Given the description of an element on the screen output the (x, y) to click on. 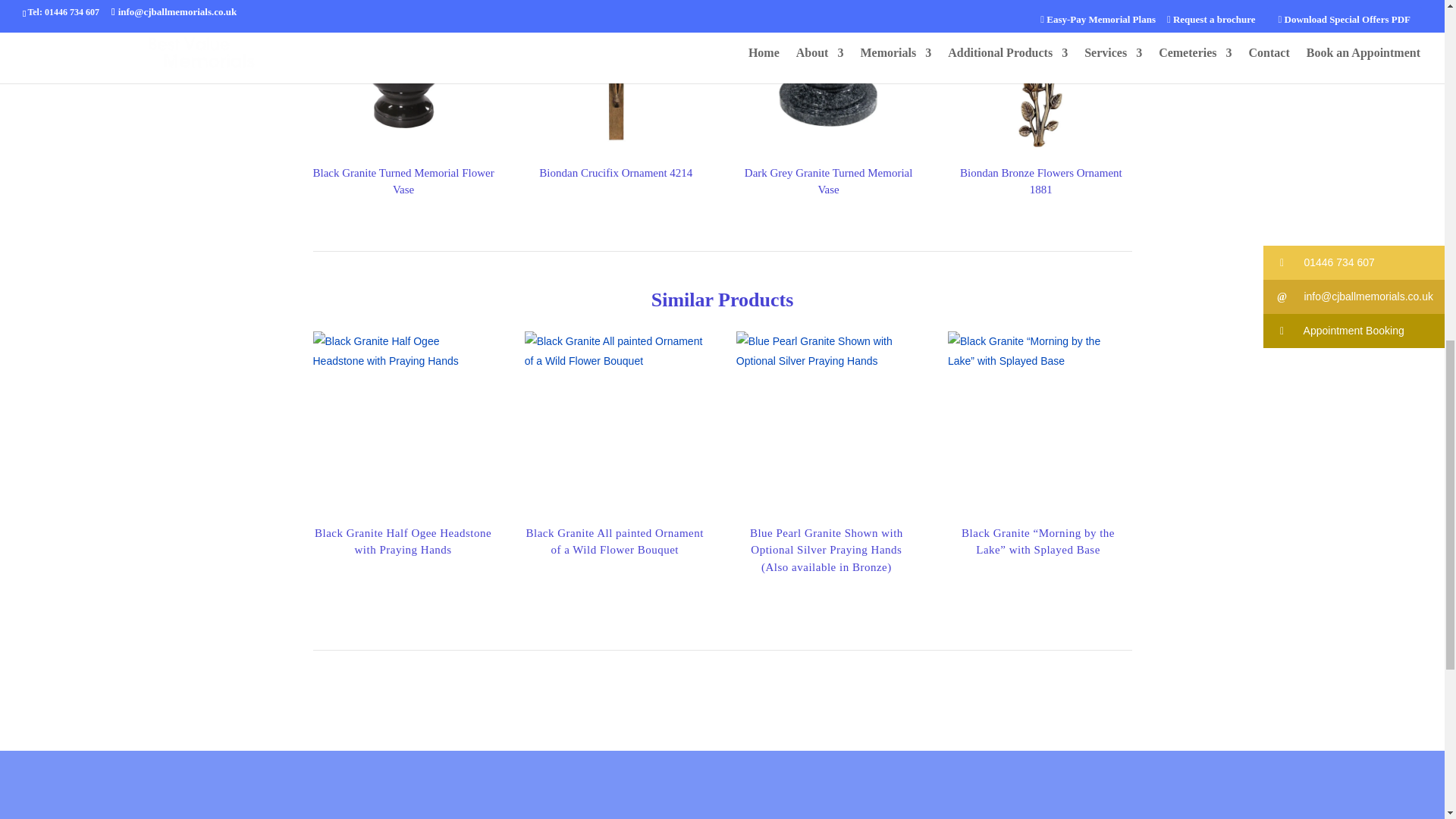
Biondan Bronze Flowers Ornament 1881 (1040, 79)
Biondan Crucifix Ornament 4214 (615, 79)
Black Granite Turned Memorial Flower Vase (403, 79)
Blue Pearl Granite Shown with Optional Silver Praying Hands (826, 421)
Dark Grey Granite Turned Memorial Vase (828, 79)
Black Granite All painted Ornament of a Wild Flower Bouquet (614, 421)
Black Granite Half Ogee Headstone with Praying Hands (403, 421)
